Given the description of an element on the screen output the (x, y) to click on. 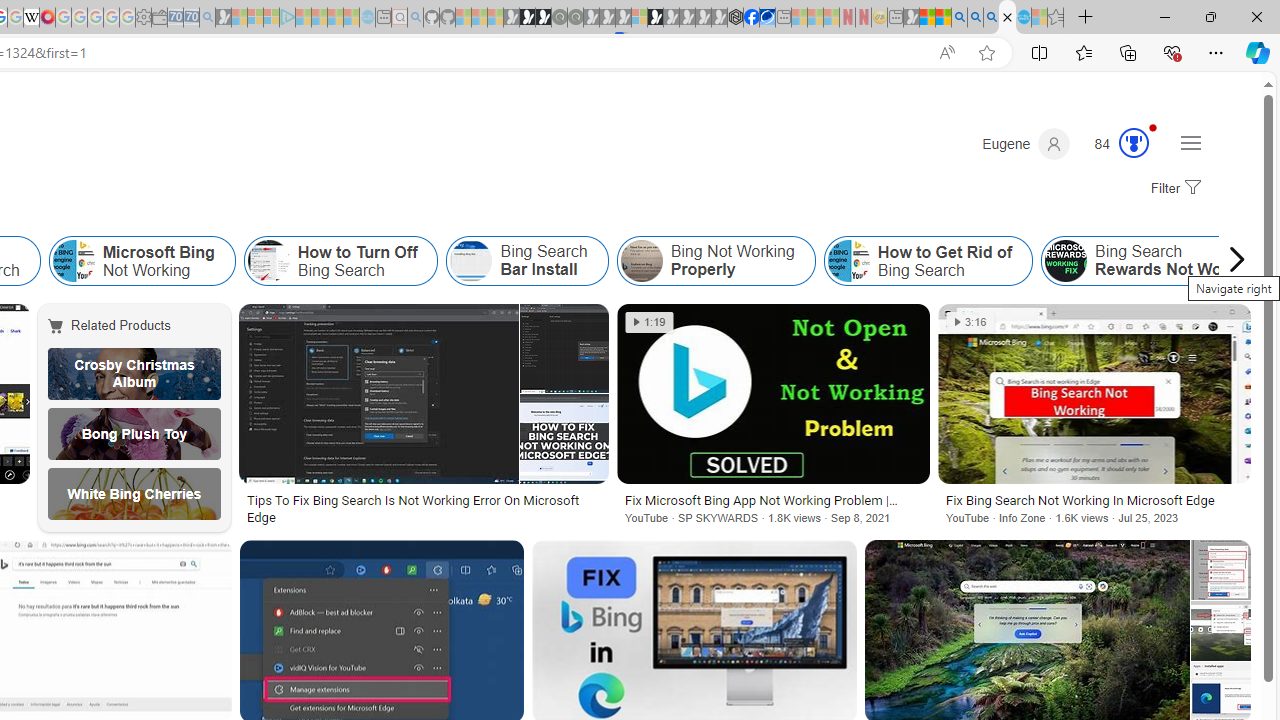
Wallet - Sleeping (159, 17)
AutomationID: serp_medal_svg (1133, 142)
Bing Not Working Properly (641, 260)
Play Zoo Boom in your browser | Games from Microsoft Start (527, 17)
AirNow.gov (767, 17)
Bing Search Bar Install (527, 260)
Cheap Car Rentals - Save70.com - Sleeping (191, 17)
Favorites - Sleeping (1055, 17)
